Given the description of an element on the screen output the (x, y) to click on. 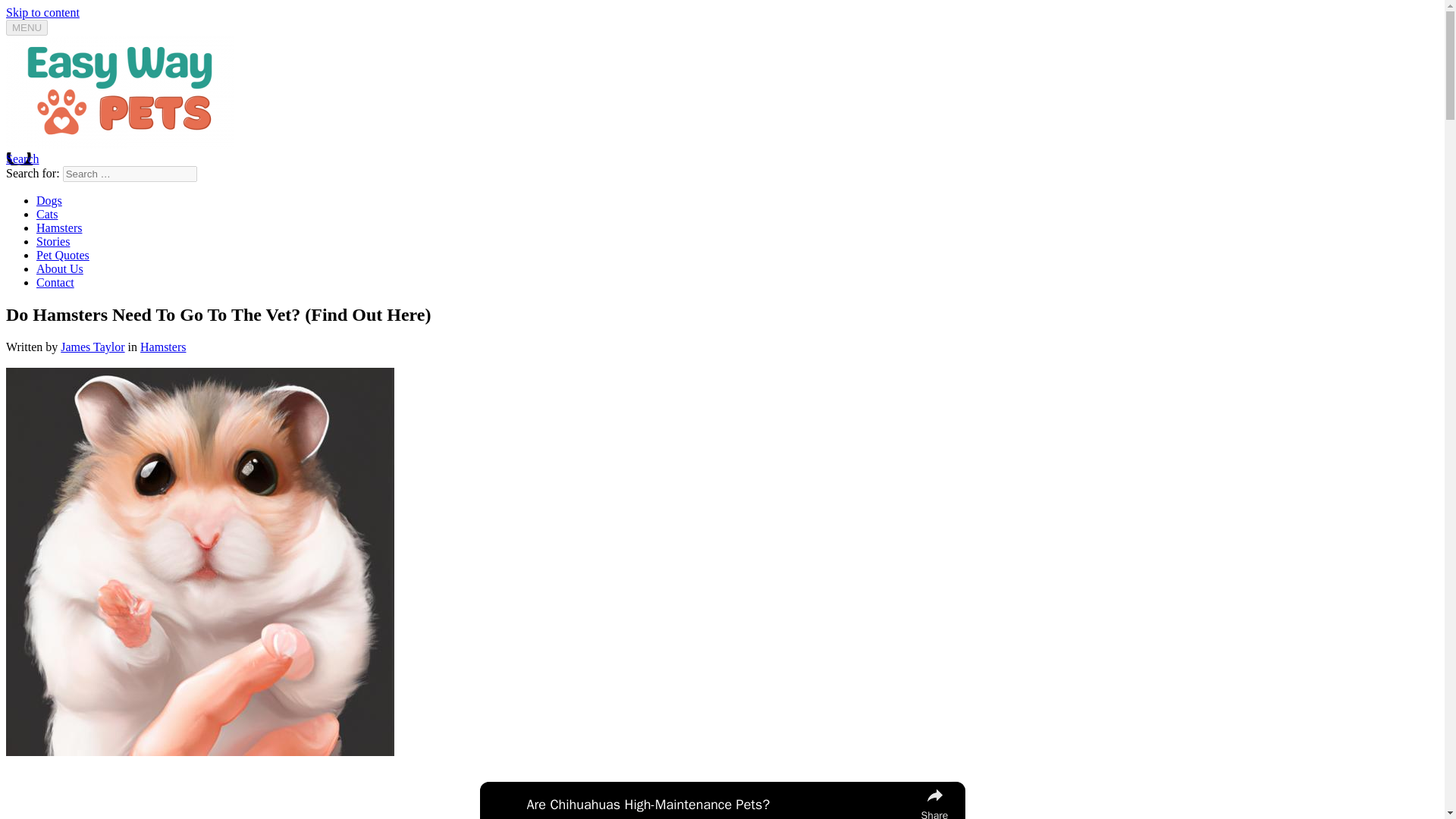
Dogs (49, 200)
Skip to content (42, 11)
Contact (55, 282)
Hamsters (58, 227)
Hamsters (162, 346)
James Taylor (92, 346)
Pet Quotes (62, 254)
MENU (26, 27)
Stories (52, 241)
Cats (47, 214)
